Given the description of an element on the screen output the (x, y) to click on. 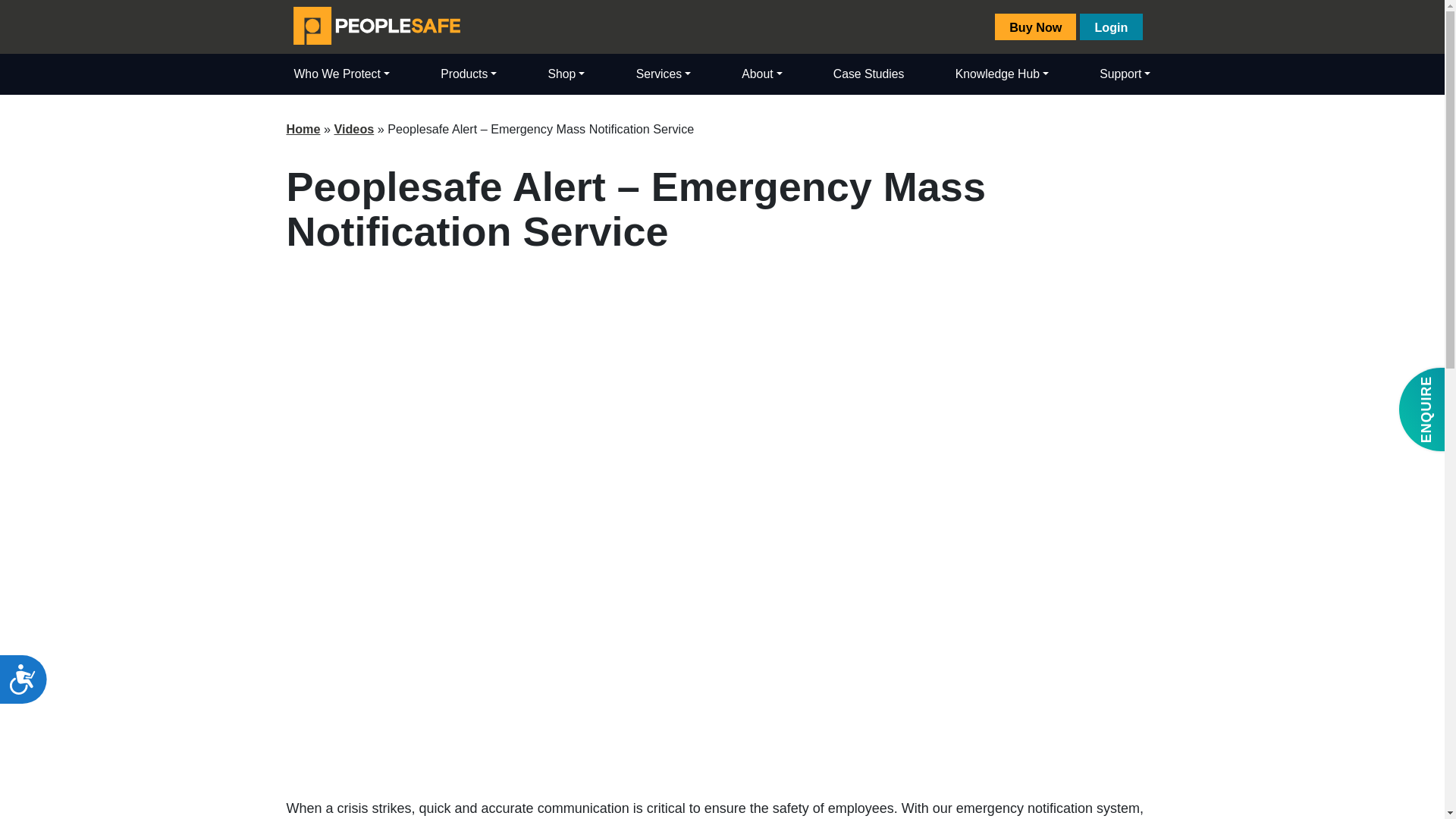
Who We Protect (341, 73)
Login (1110, 26)
Accessibility (29, 685)
Products (467, 73)
Who We Protect (341, 73)
Buy Now (1034, 26)
